Given the description of an element on the screen output the (x, y) to click on. 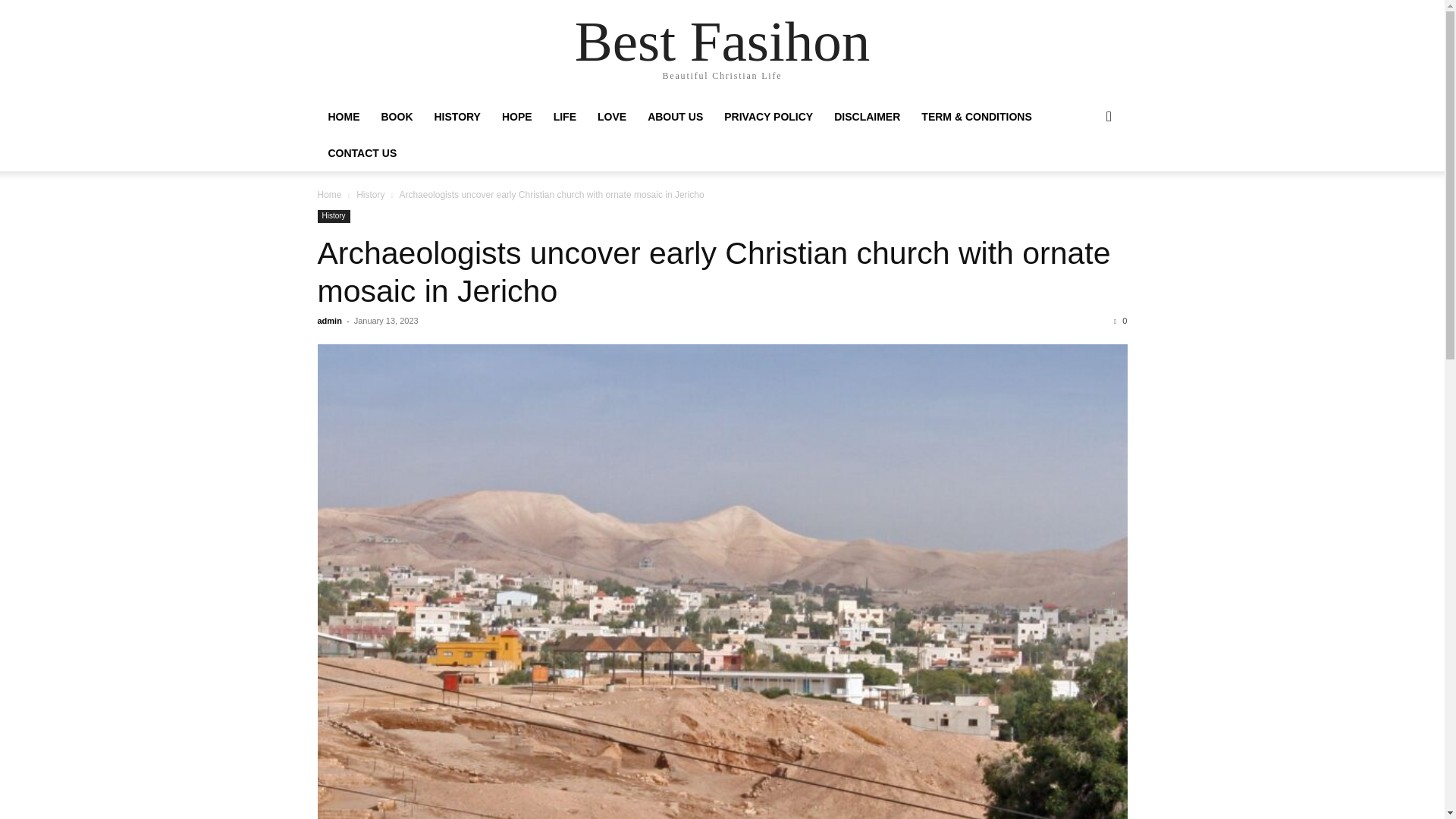
ABOUT US (675, 116)
HISTORY (456, 116)
BOOK (396, 116)
Home (328, 194)
Search (1085, 177)
HOPE (517, 116)
0 (1119, 320)
admin (328, 320)
